Given the description of an element on the screen output the (x, y) to click on. 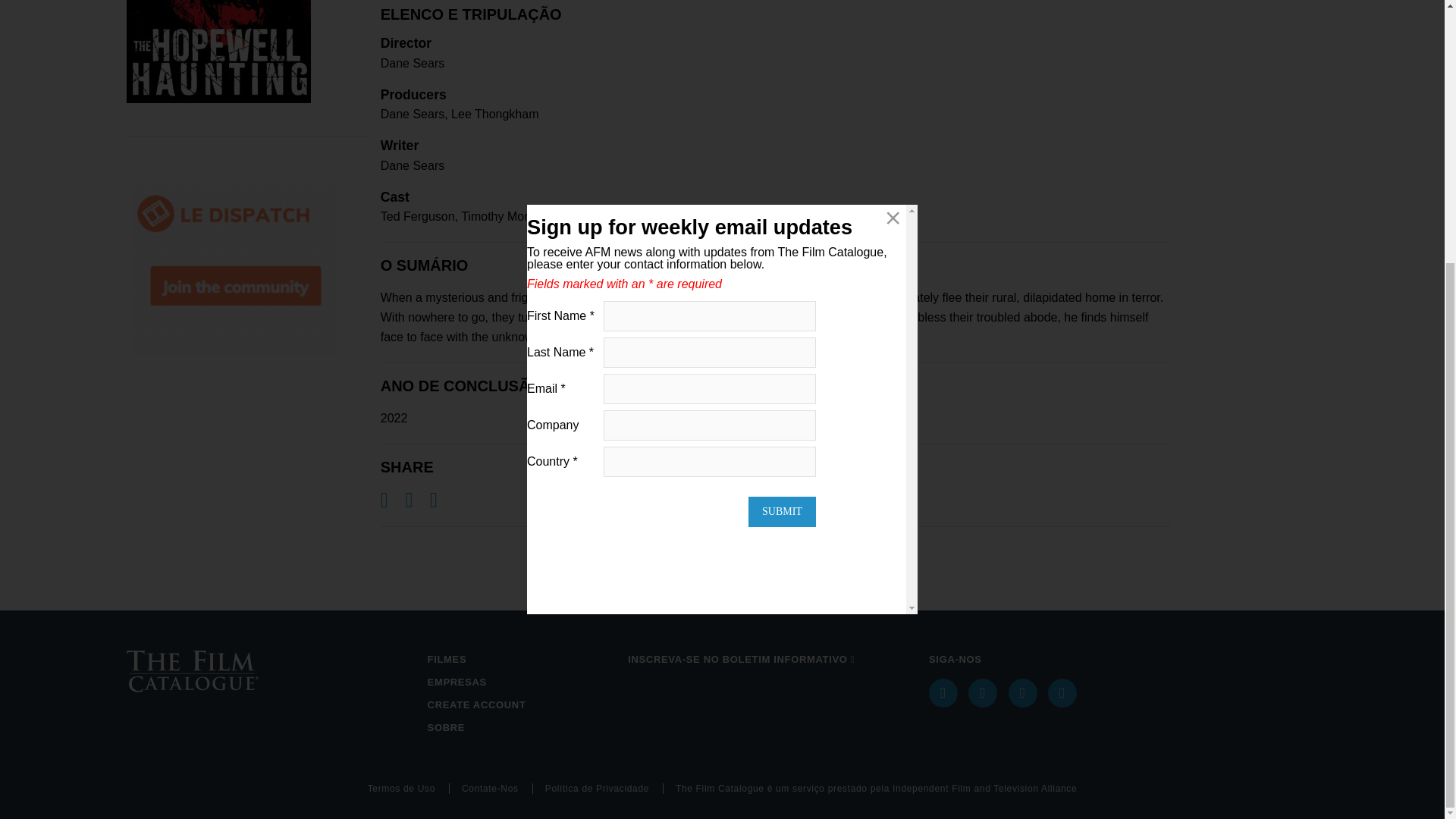
Contate-Nos (496, 787)
CREATE ACCOUNT (521, 704)
EMPRESAS (521, 681)
Independent Film and Television Alliance (984, 787)
FILMES (521, 659)
Termos de Uso (408, 787)
SOBRE (521, 727)
